Given the description of an element on the screen output the (x, y) to click on. 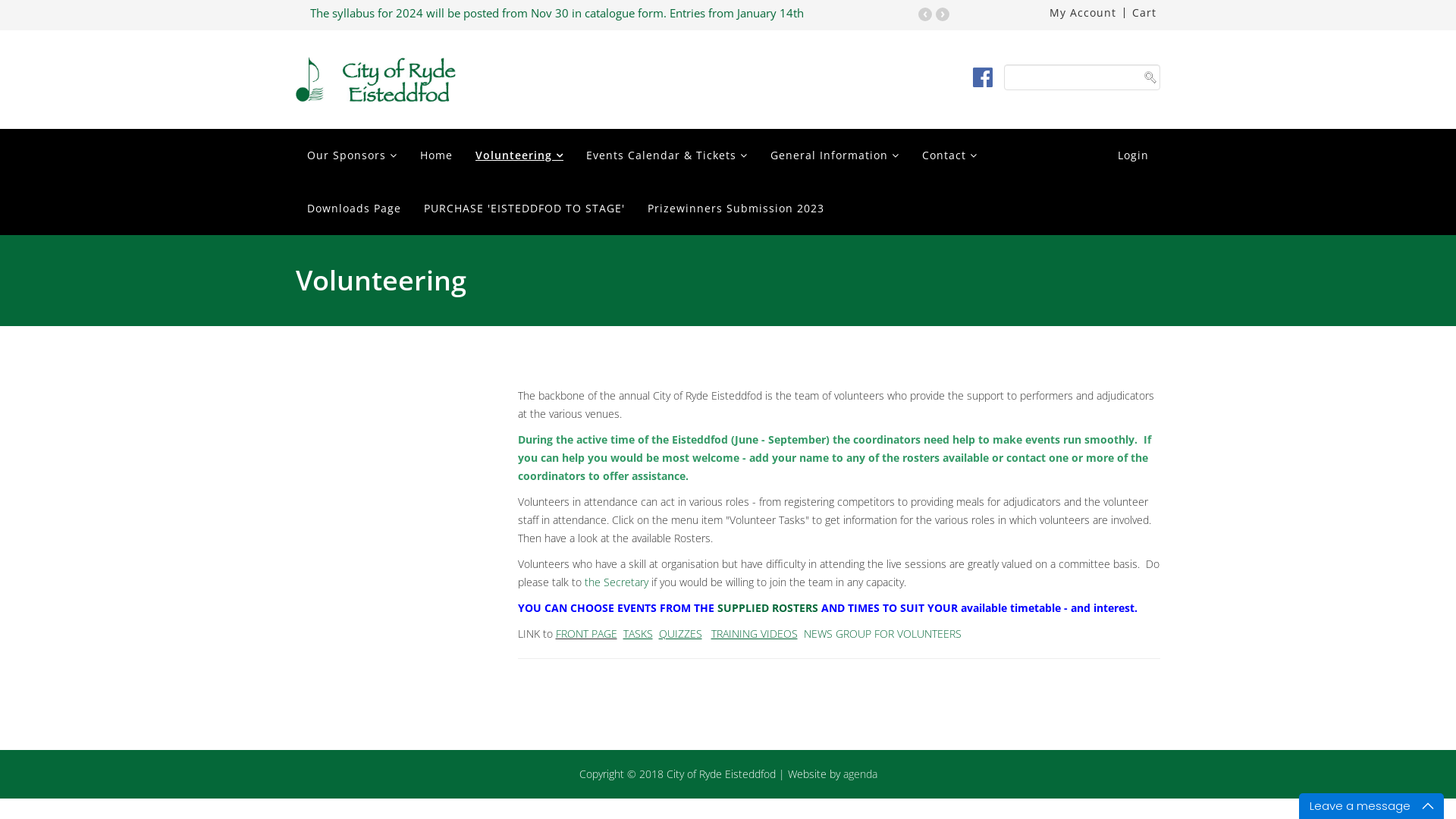
NEWS GROUP FOR VOLUNTEERS Element type: text (882, 633)
Downloads Page Element type: text (353, 208)
FRONT PAGE Element type: text (585, 633)
Contact Element type: text (949, 155)
Cart Element type: text (1143, 12)
Home Element type: text (436, 155)
Maximize Element type: hover (1430, 806)
agenda Element type: text (860, 773)
Volunteering Element type: text (519, 155)
My Account Element type: text (1082, 12)
PURCHASE 'EISTEDDFOD TO STAGE' Element type: text (524, 208)
TRAINING VIDEOS Element type: text (754, 633)
Events Calendar & Tickets Element type: text (666, 155)
TASKS Element type: text (636, 633)
Login Element type: text (1133, 155)
Prizewinners Submission 2023 Element type: text (735, 208)
Our Sponsors Element type: text (351, 155)
SUPPLIED ROSTERS Element type: text (767, 607)
the Secretary Element type: text (616, 581)
QUIZZES Element type: text (679, 633)
General Information Element type: text (834, 155)
